Given the description of an element on the screen output the (x, y) to click on. 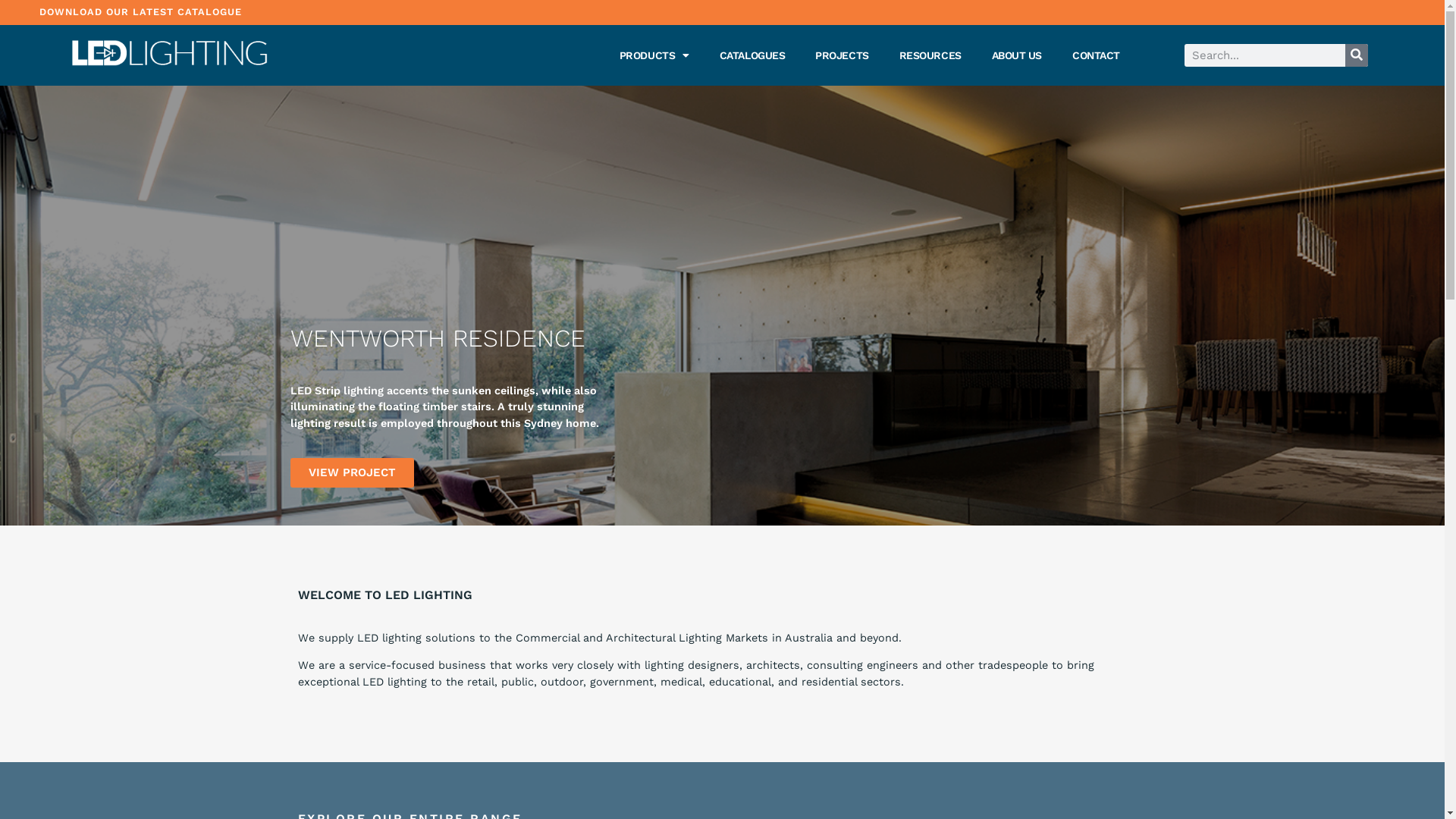
VIEW PROJECT Element type: text (351, 472)
ABOUT US Element type: text (1016, 55)
PROJECTS Element type: text (841, 55)
PRODUCTS Element type: text (653, 55)
DOWNLOAD OUR LATEST CATALOGUE Element type: text (140, 11)
RESOURCES Element type: text (930, 55)
CATALOGUES Element type: text (752, 55)
CONTACT Element type: text (1095, 55)
